Given the description of an element on the screen output the (x, y) to click on. 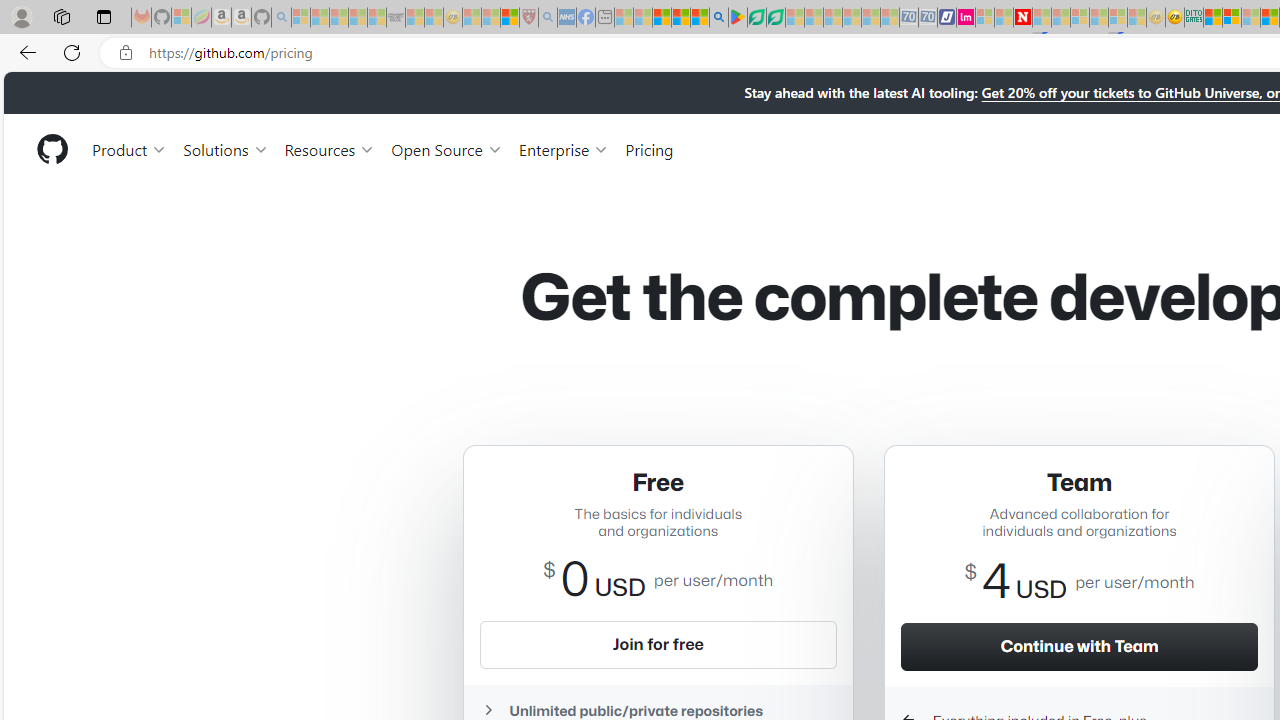
Bluey: Let's Play! - Apps on Google Play (737, 17)
Open Source (446, 148)
Product (130, 148)
